Given the description of an element on the screen output the (x, y) to click on. 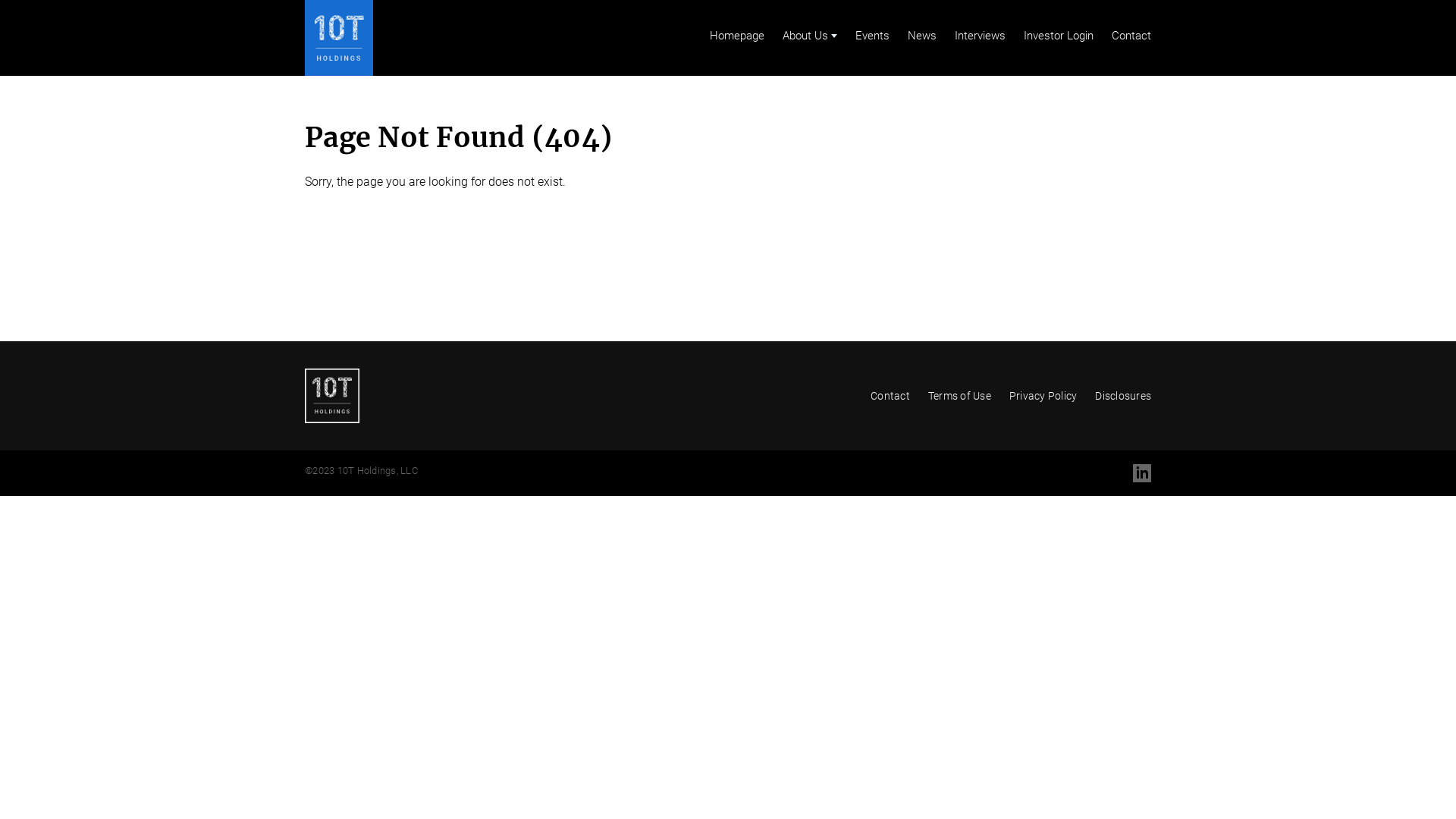
Terms of Use Element type: text (959, 395)
Interviews Element type: text (979, 35)
Contact Element type: text (890, 395)
Homepage Element type: text (736, 35)
Events Element type: text (872, 35)
Disclosures Element type: text (1123, 395)
About Us Element type: text (809, 35)
News Element type: text (921, 35)
Contact Element type: text (1131, 35)
Privacy Policy Element type: text (1043, 395)
Investor Login Element type: text (1058, 35)
